Given the description of an element on the screen output the (x, y) to click on. 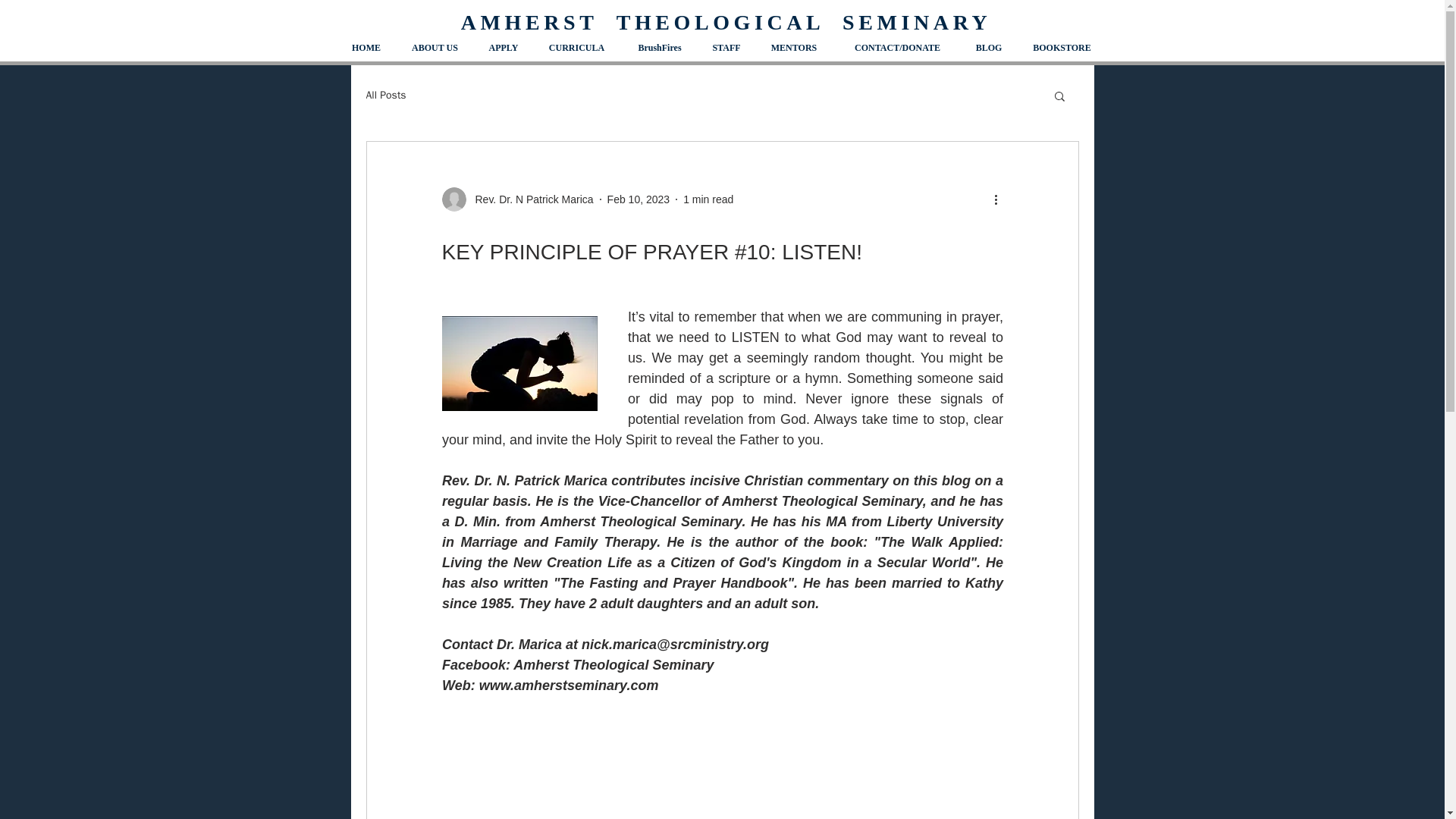
APPLY (503, 48)
Rev. Dr. N Patrick Marica (528, 198)
BLOG (988, 48)
Rev. Dr. N Patrick Marica (516, 199)
ABOUT US (434, 48)
1 min read (707, 198)
BrushFires (658, 48)
CURRICULA (576, 48)
HOME (365, 48)
MENTORS (793, 48)
BOOKSTORE (1062, 48)
STAFF (725, 48)
All Posts (385, 95)
Feb 10, 2023 (638, 198)
AMHERST  THEOLOGICAL  SEMINARY (726, 22)
